Given the description of an element on the screen output the (x, y) to click on. 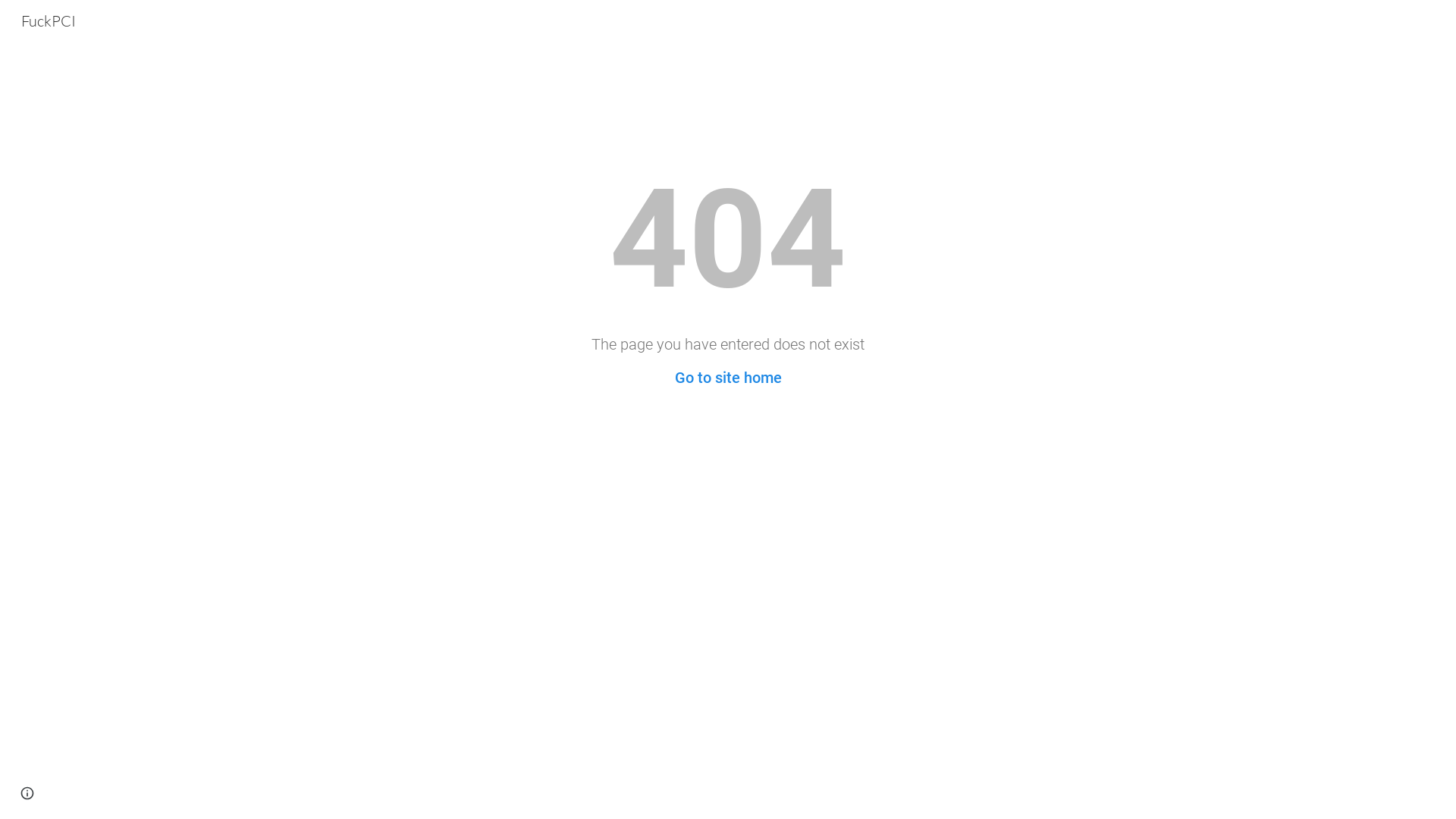
Go to site home Element type: text (727, 377)
FuckPCI Element type: text (48, 18)
